Given the description of an element on the screen output the (x, y) to click on. 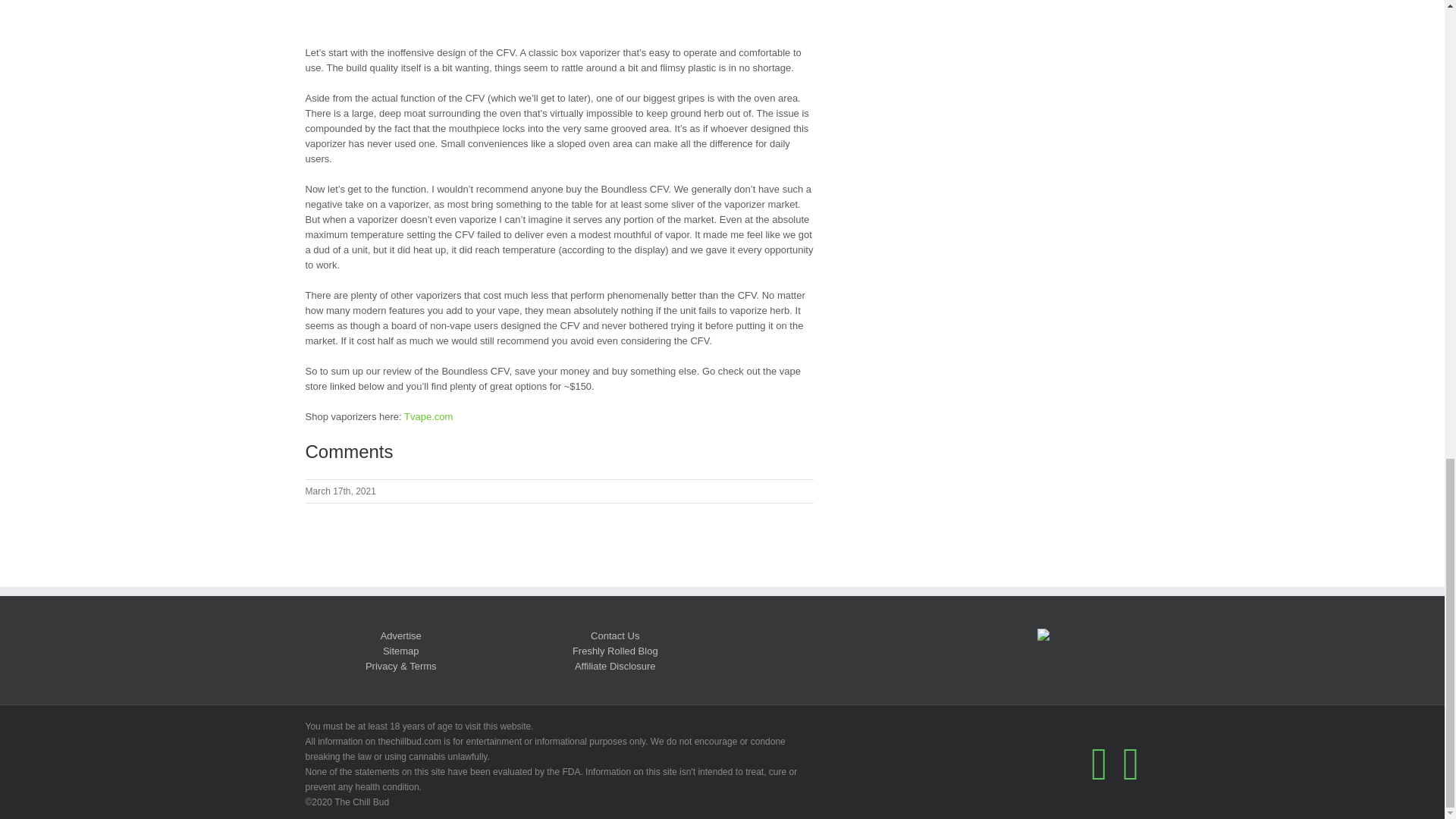
Freshly Rolled Blog (615, 650)
Contact Us (615, 635)
Advertise (401, 635)
Affiliate Disclosure (615, 665)
Tvape.com (428, 416)
Sitemap (400, 650)
